Given the description of an element on the screen output the (x, y) to click on. 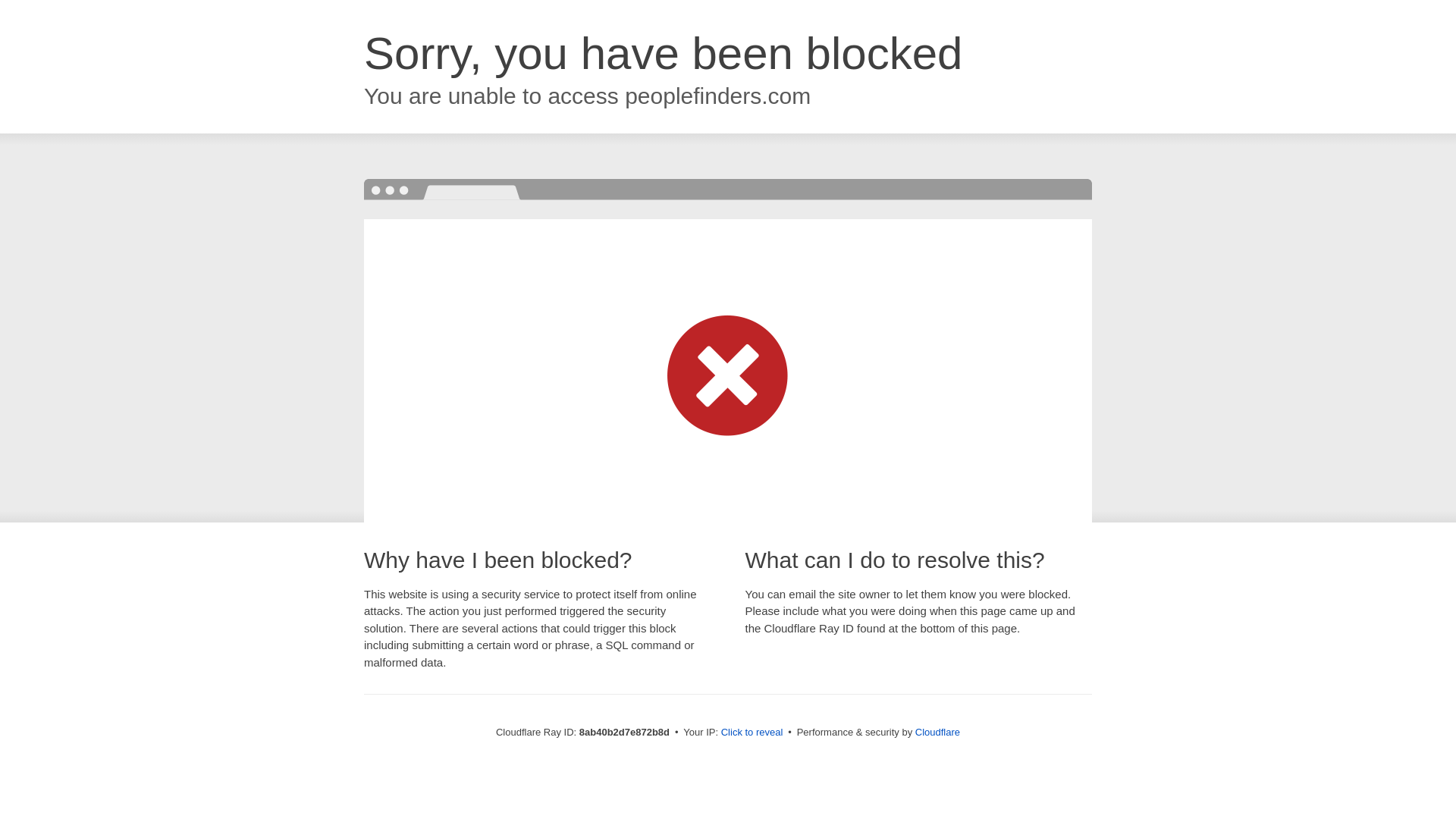
Cloudflare (937, 731)
Click to reveal (751, 732)
